Given the description of an element on the screen output the (x, y) to click on. 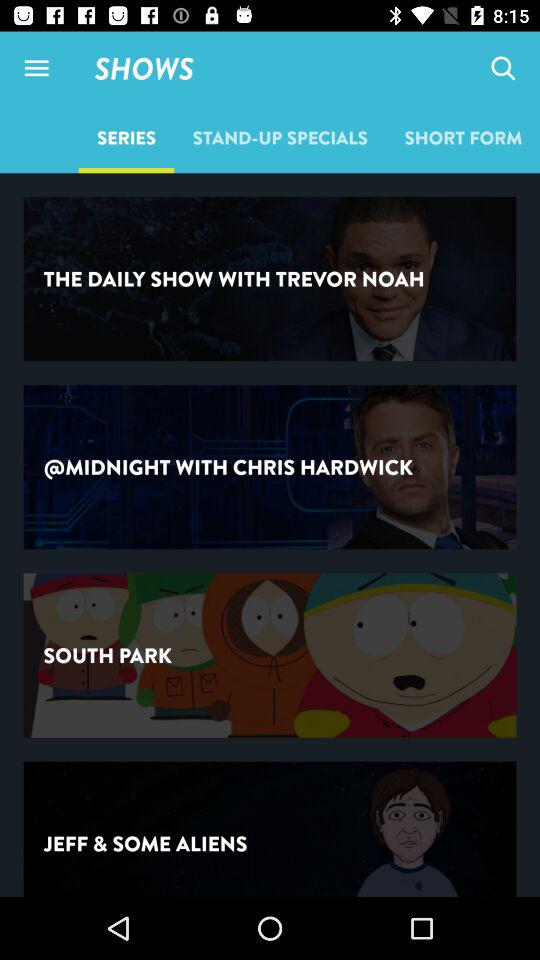
press the icon to the right of the series item (280, 137)
